Given the description of an element on the screen output the (x, y) to click on. 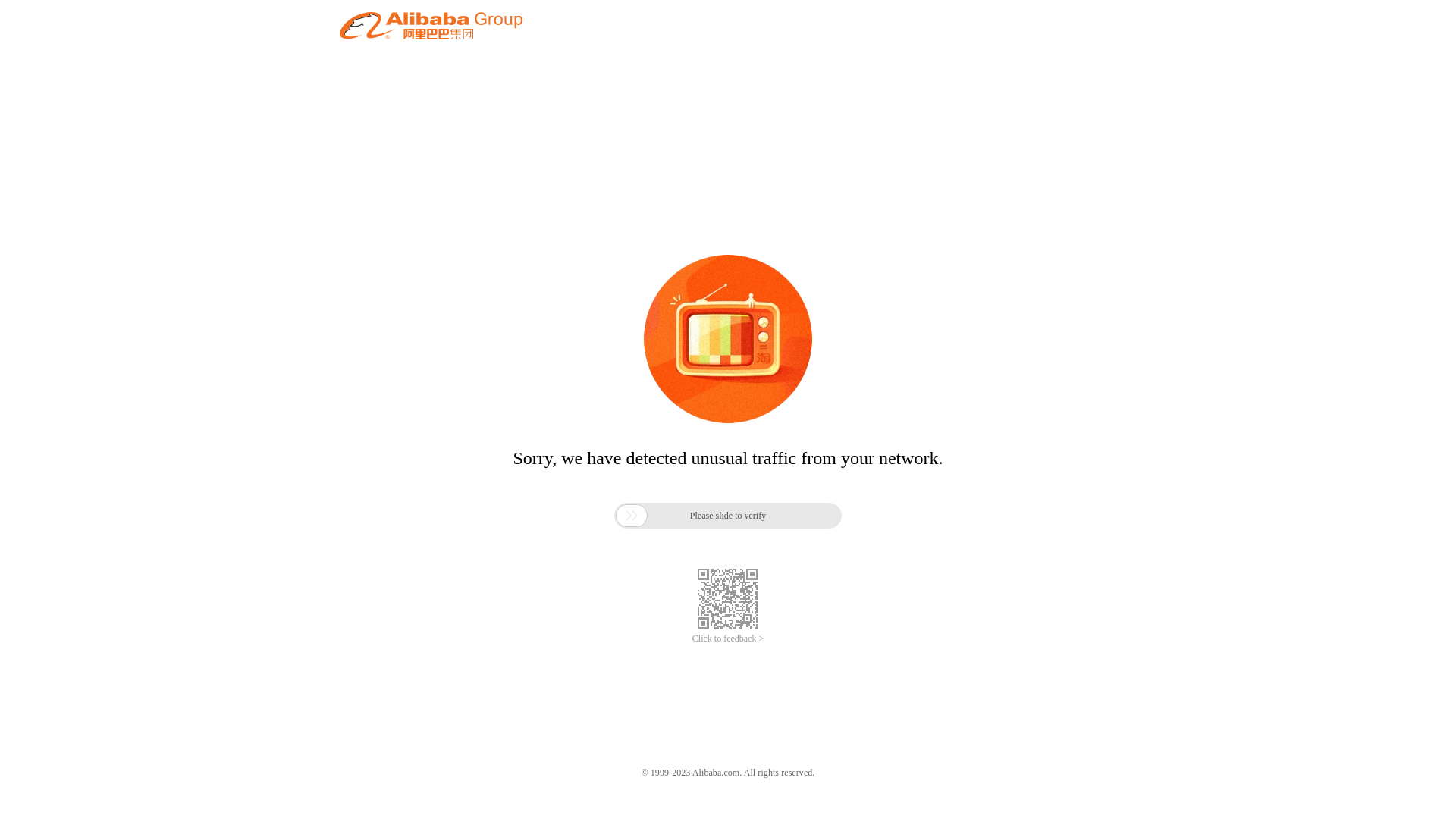
Click to feedback > Element type: text (727, 638)
